Given the description of an element on the screen output the (x, y) to click on. 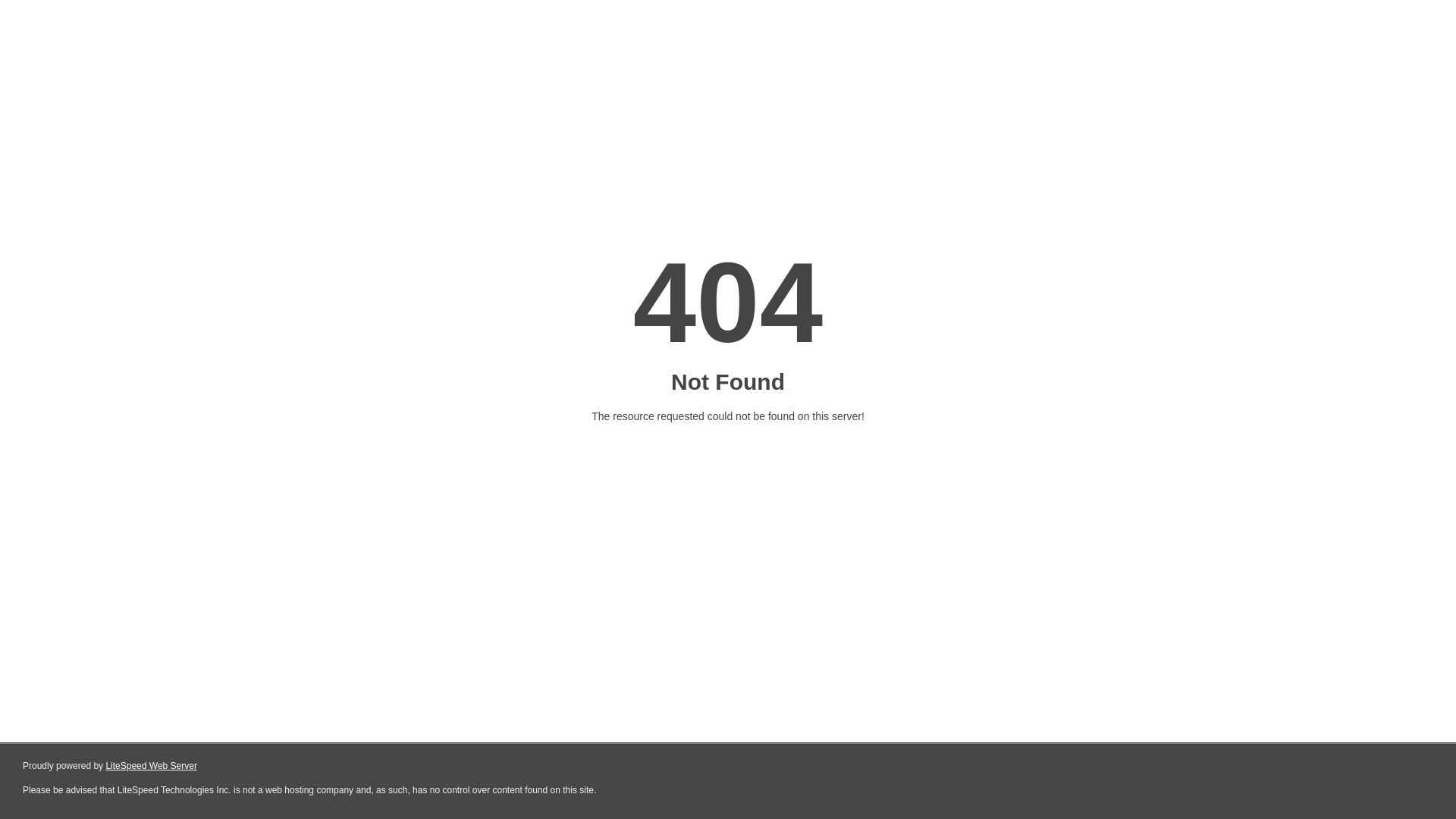
LiteSpeed Web Server Element type: text (151, 765)
